Given the description of an element on the screen output the (x, y) to click on. 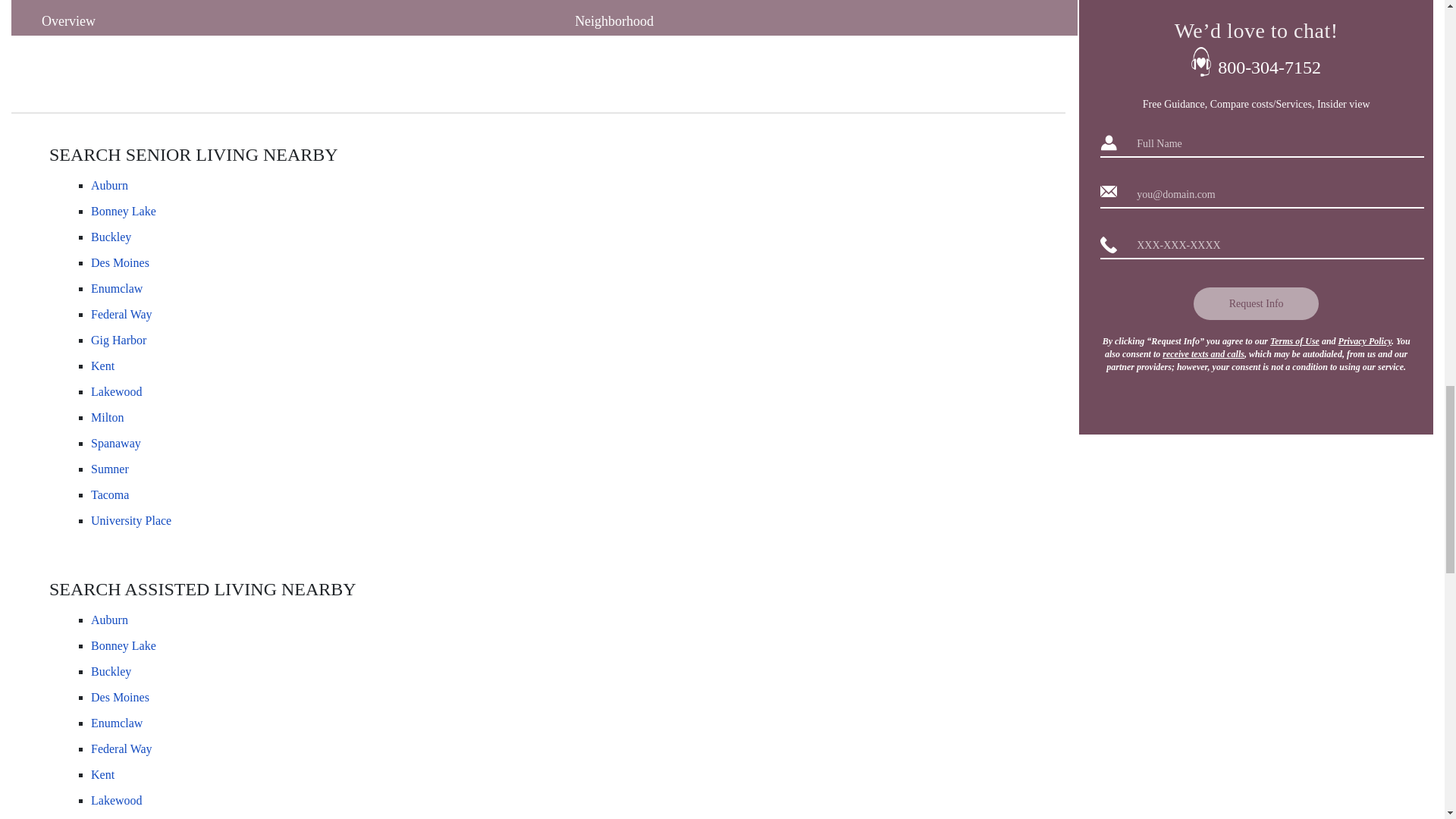
Lakewood (116, 391)
University Place (130, 520)
Enumclaw (116, 288)
Sumner (109, 468)
Auburn (109, 185)
Milton (106, 417)
Tacoma (109, 494)
Spanaway (115, 443)
Bonney Lake (122, 210)
Buckley (110, 236)
Auburn (109, 619)
Gig Harbor (118, 340)
Federal Way (121, 313)
Bonney Lake (122, 645)
Des Moines (119, 262)
